Given the description of an element on the screen output the (x, y) to click on. 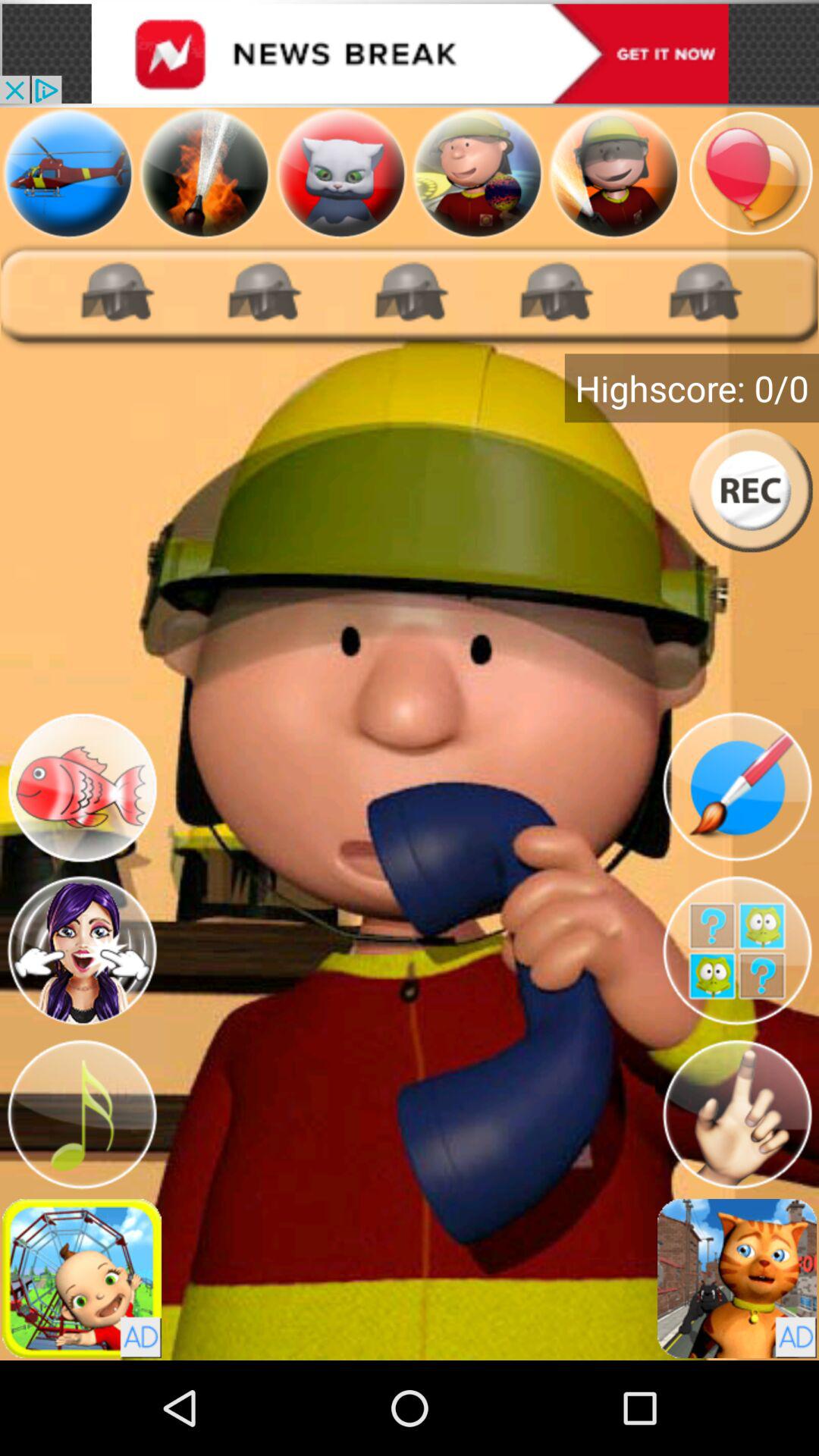
select item (68, 173)
